Given the description of an element on the screen output the (x, y) to click on. 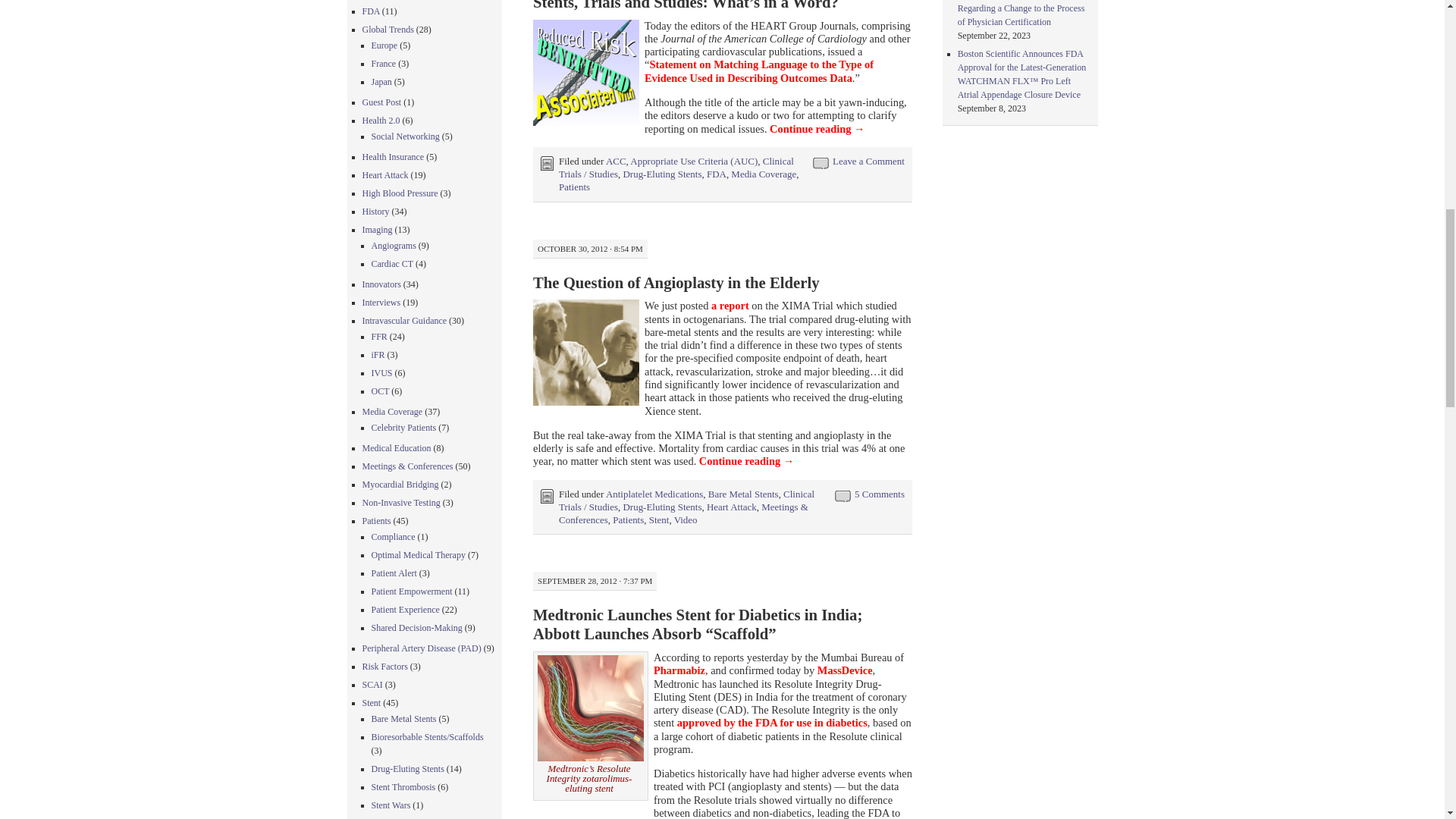
Leave a Comment (868, 161)
Media Coverage (763, 173)
Pharmabiz reports launch of Medtronic stent in India (678, 670)
The XIMA Trial (730, 305)
Resolute Integrity Stent in artery (590, 708)
What's In a Word? (585, 72)
MassDevice confirm launch of Medtronic stent in India (844, 670)
Drug-Eluting Stents (662, 173)
